Given the description of an element on the screen output the (x, y) to click on. 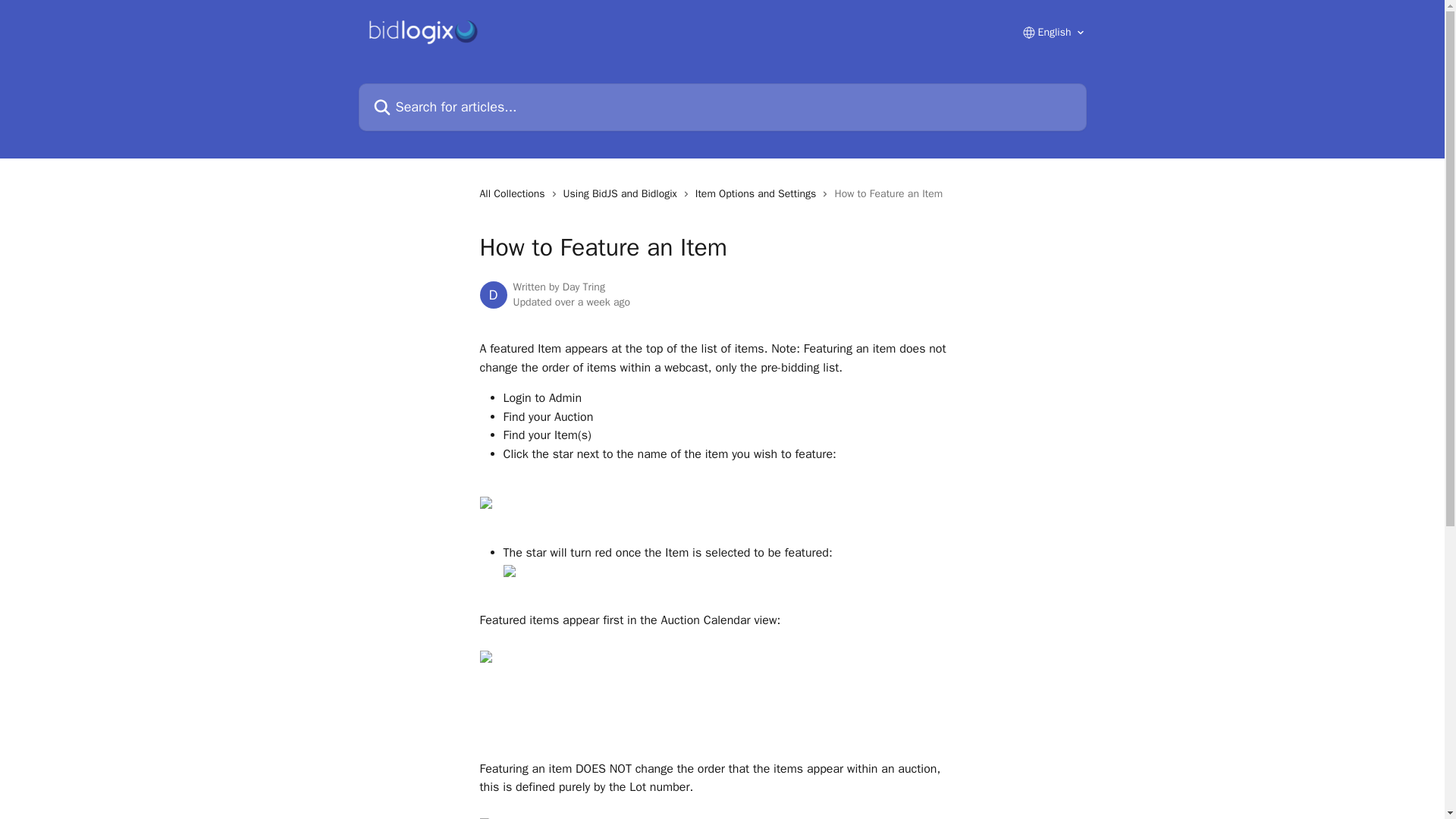
Item Options and Settings (758, 193)
All Collections (514, 193)
Using BidJS and Bidlogix (622, 193)
